Given the description of an element on the screen output the (x, y) to click on. 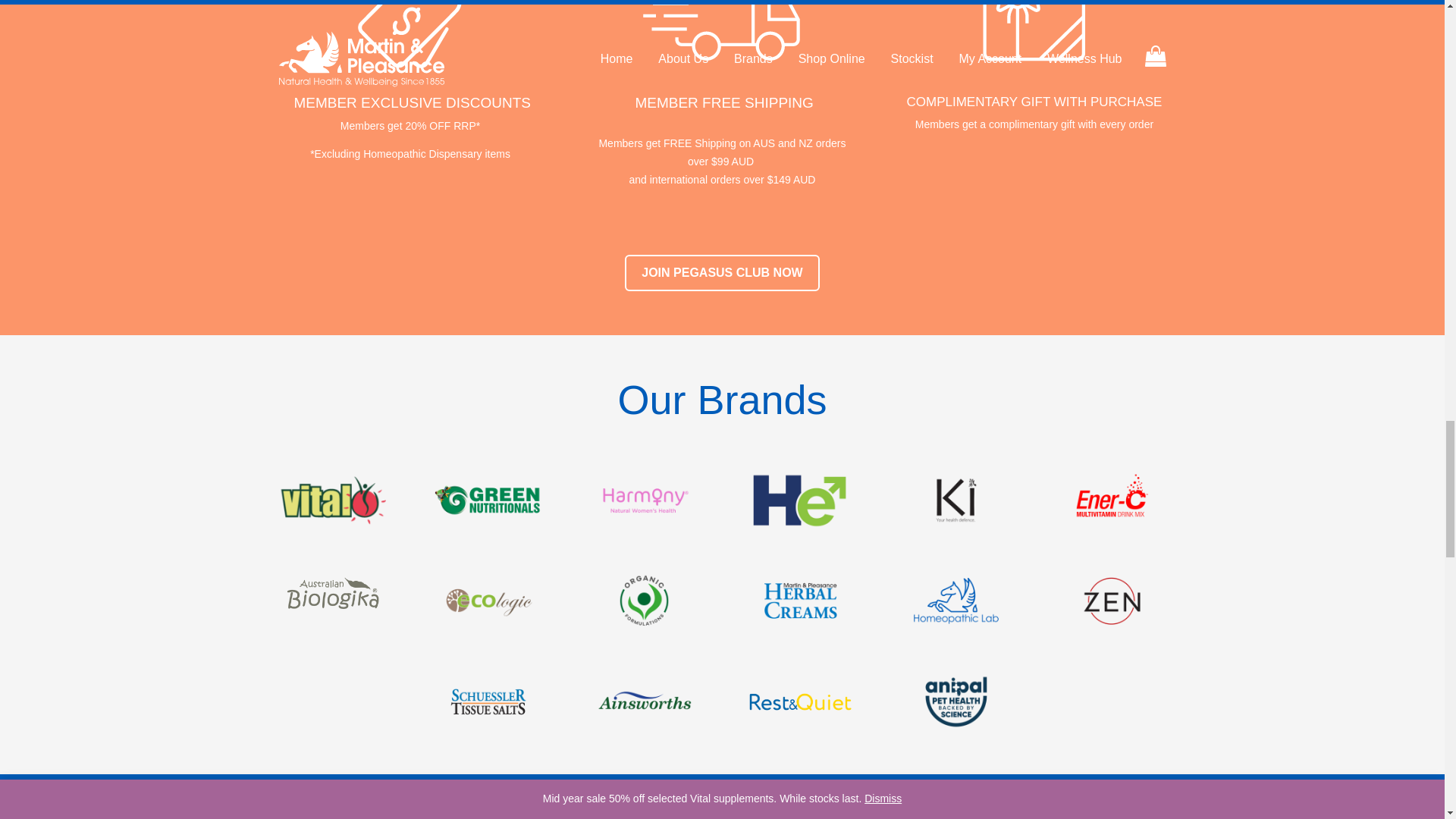
Ki-Logo (955, 499)
Herbal-Creams-Logo (799, 600)
Homeopathic-Lab-Brand-Logo (955, 600)
Gift (1034, 35)
Organic Formulations Brand Logo (644, 600)
Harmony-Logo (644, 499)
EnerC-Logo (1112, 499)
Truck (722, 35)
Eco-Logic-Logo (487, 600)
Tag (409, 35)
Vital Logo Transparent 640x340 (332, 499)
HE-Logo 640x340-Transparent (799, 499)
